Given the description of an element on the screen output the (x, y) to click on. 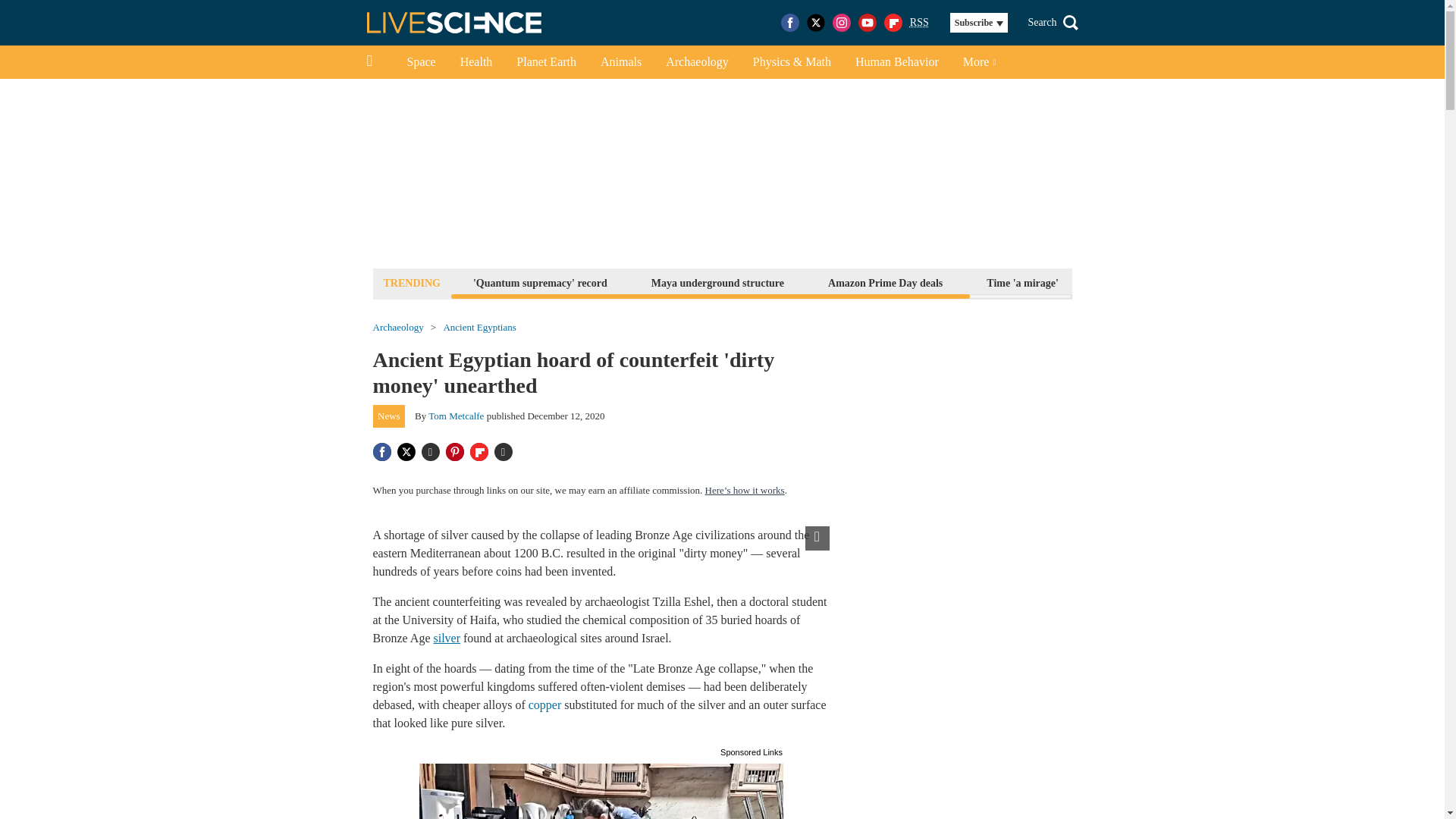
Archaeology (697, 61)
Climate change (1137, 282)
Planet Earth (545, 61)
Man Hides Webcam and Catches Housekeeper Doing... (601, 790)
Time 'a mirage' (1022, 282)
Maya underground structure (717, 282)
News (389, 415)
'Quantum supremacy' record (539, 282)
Animals (620, 61)
Ancient Egyptians (478, 327)
Health (476, 61)
Human Behavior (896, 61)
Space (420, 61)
Amazon Prime Day deals (884, 282)
Archaeology (397, 327)
